Given the description of an element on the screen output the (x, y) to click on. 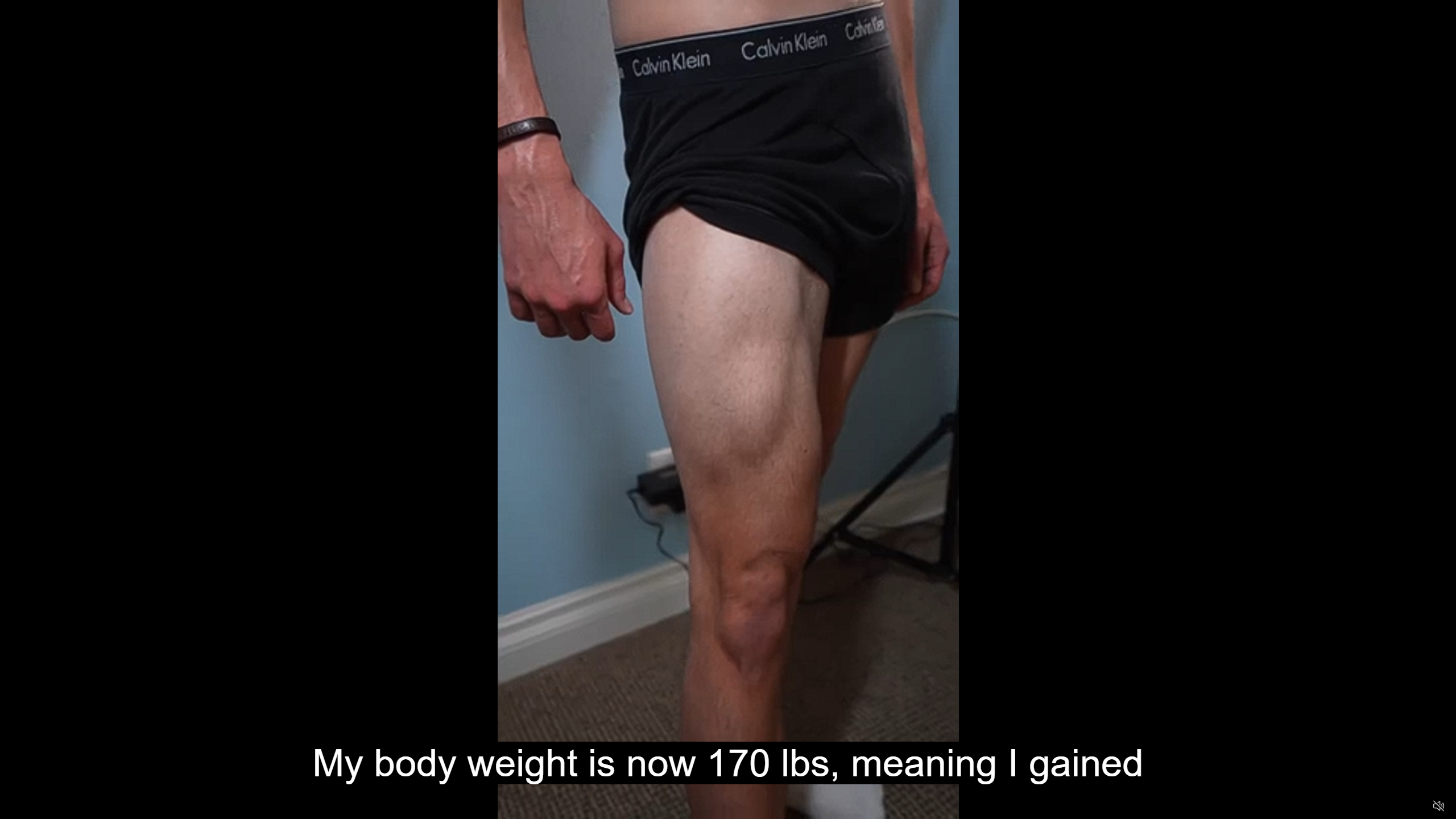
Quality Settings (1371, 806)
Non-Fullscreen (1417, 806)
Unmute (1438, 805)
Pause (17, 806)
Seek Back (39, 806)
Captions (1394, 806)
Progress Bar (727, 791)
Seek Forward (62, 806)
